Given the description of an element on the screen output the (x, y) to click on. 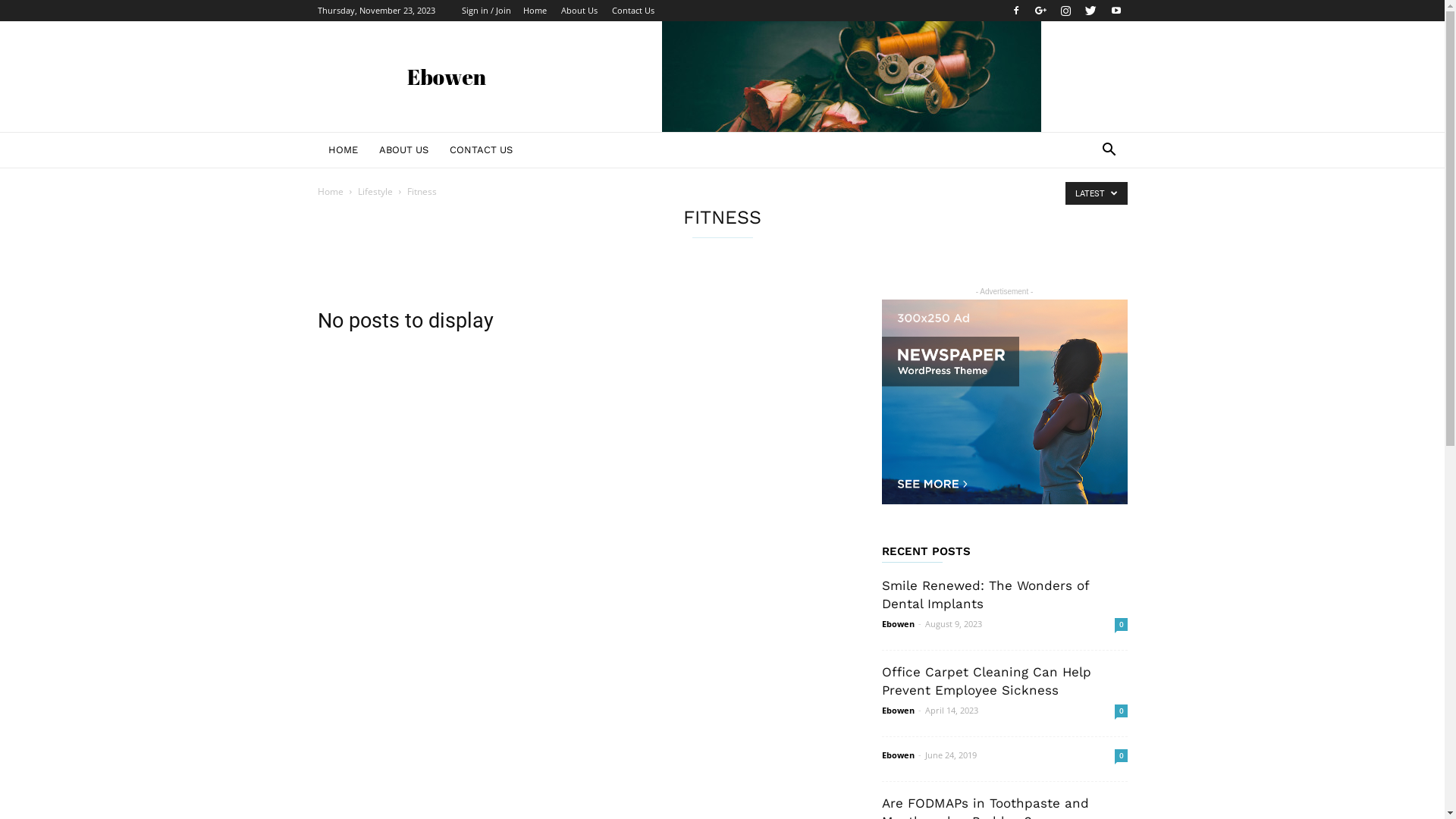
Youtube Element type: hover (1115, 10)
Twitter Element type: hover (1090, 10)
Ebowen Element type: text (897, 623)
Instagram Element type: hover (1065, 10)
Office Carpet Cleaning Can Help Prevent Employee Sickness Element type: text (985, 680)
Home Element type: text (329, 191)
CONTACT US Element type: text (480, 149)
Contact Us Element type: text (632, 9)
Ebowen Element type: text (897, 754)
Lifestyle Element type: text (374, 191)
0 Element type: text (1120, 624)
Smile Renewed: The Wonders of Dental Implants Element type: text (984, 594)
Google+ Element type: hover (1040, 10)
HOME Element type: text (341, 149)
Ebowen Element type: text (897, 709)
ABOUT US Element type: text (403, 149)
Search Element type: text (1085, 210)
Home Element type: text (534, 9)
About Us Element type: text (579, 9)
0 Element type: text (1120, 755)
0 Element type: text (1120, 710)
Facebook Element type: hover (1015, 10)
Sign in / Join Element type: text (485, 9)
